Given the description of an element on the screen output the (x, y) to click on. 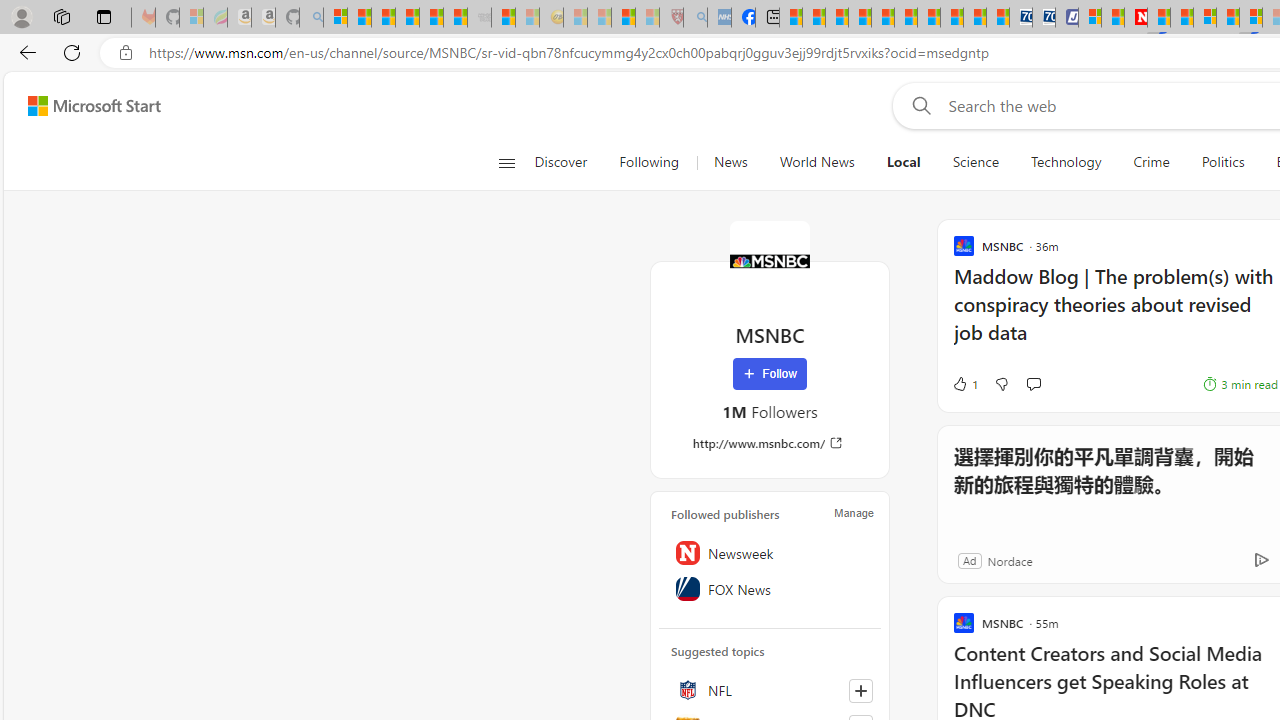
Latest Politics News & Archive | Newsweek.com (1135, 17)
Newsweek (770, 552)
http://www.msnbc.com/ (769, 443)
